Given the description of an element on the screen output the (x, y) to click on. 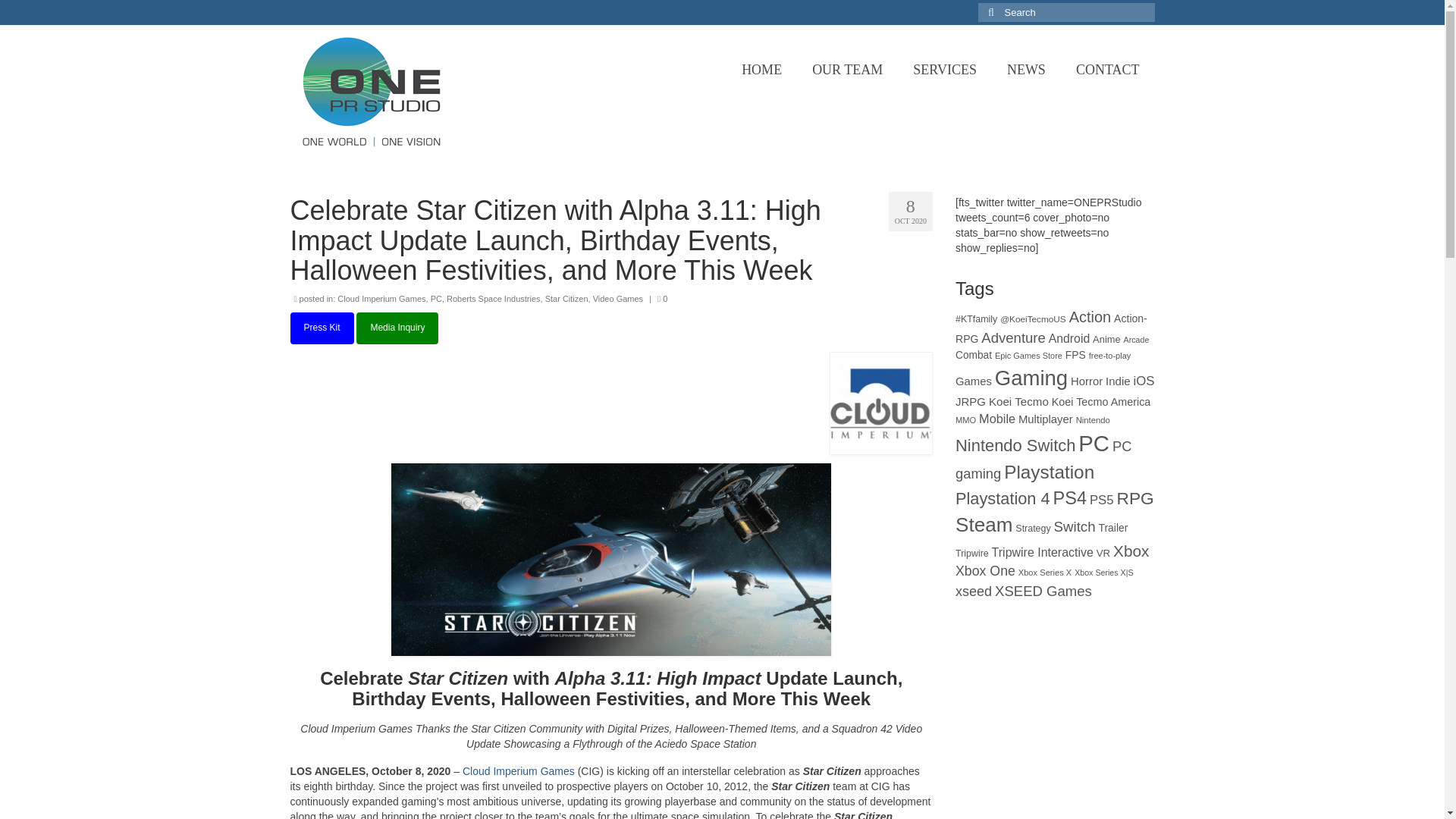
PC (436, 298)
Star Citizen (566, 298)
Cloud Imperium Games (519, 770)
Cloud Imperium Games (381, 298)
Media Inquiry (397, 327)
OUR TEAM (847, 69)
Roberts Space Industries (493, 298)
Press Kit (321, 327)
CONTACT (1107, 69)
NEWS (1026, 69)
HOME (761, 69)
SERVICES (944, 69)
Video Games (617, 298)
